Given the description of an element on the screen output the (x, y) to click on. 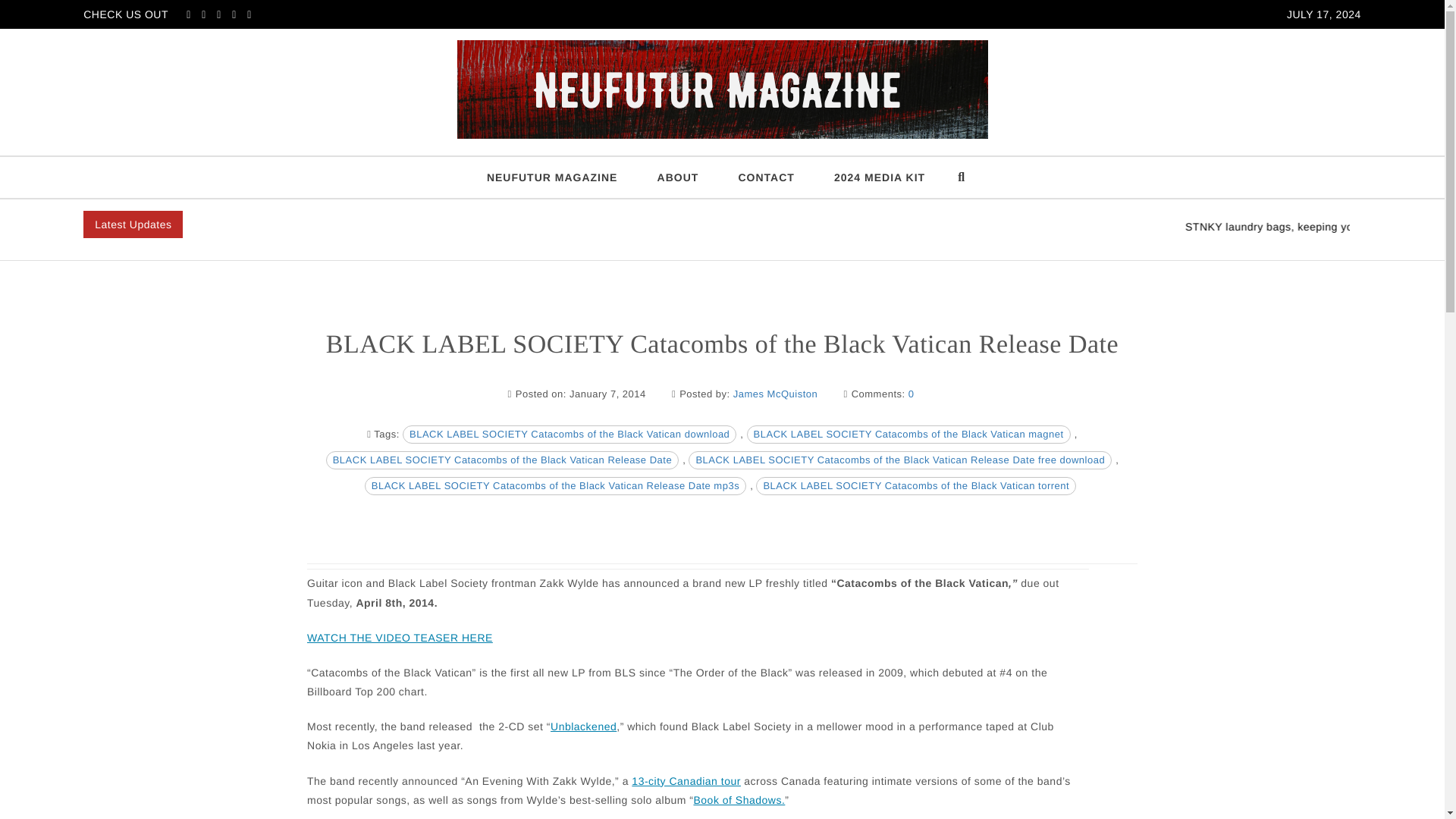
BLACK LABEL SOCIETY Catacombs of the Black Vatican magnet (908, 434)
James McQuiston (775, 393)
13-city Canadian tour (686, 781)
0 (911, 393)
NeuFutur Magazine (139, 151)
CONTACT (765, 177)
WATCH THE VIDEO TEASER HERE (400, 637)
Unblackened (582, 726)
Book of Shadows. (738, 800)
2024 MEDIA KIT (879, 177)
BLACK LABEL SOCIETY Catacombs of the Black Vatican torrent (915, 485)
ABOUT (678, 177)
